Given the description of an element on the screen output the (x, y) to click on. 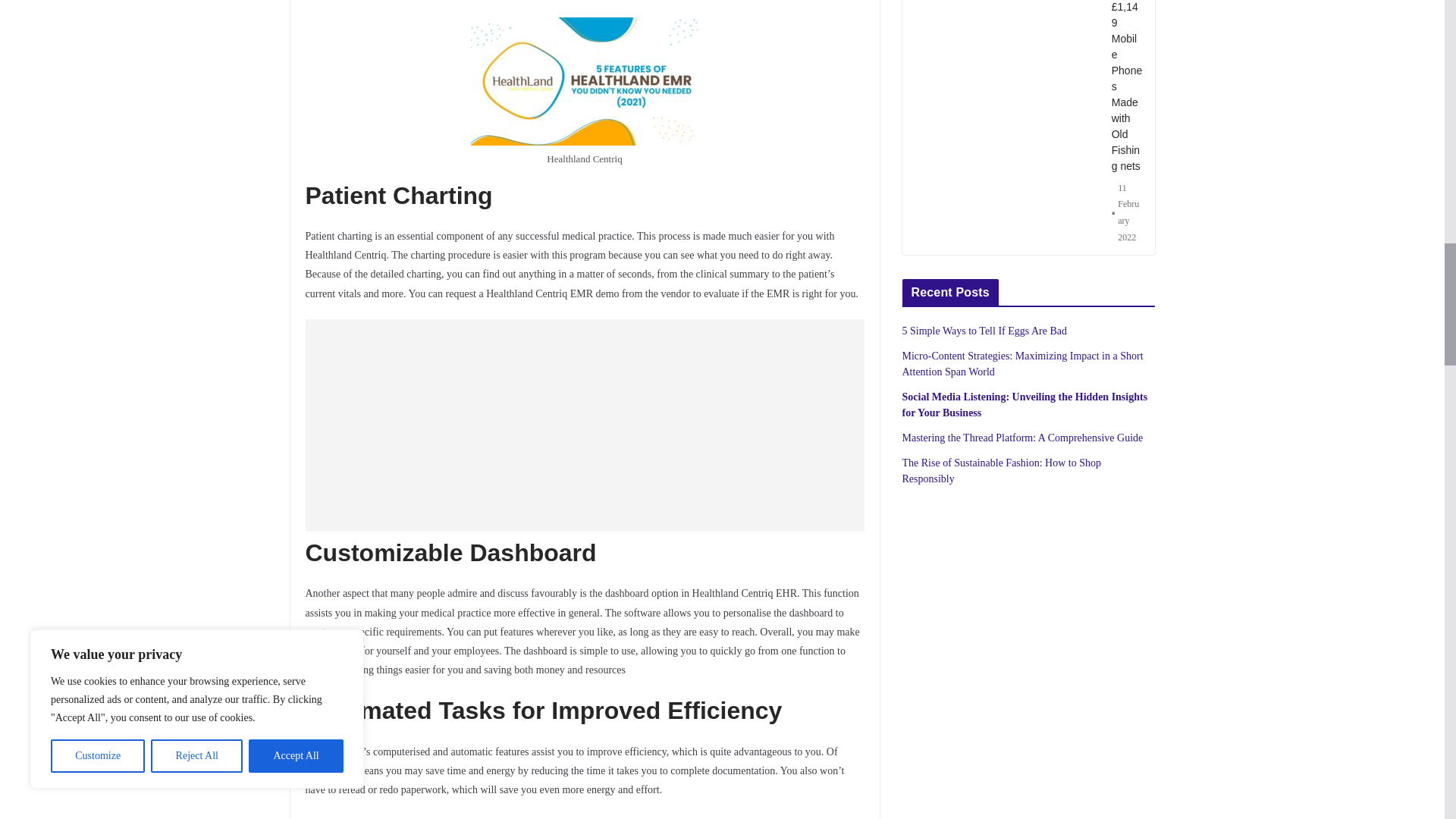
5 Best Features of Healthland Centriq EMR Software In Tech 2 (584, 81)
Advertisement (583, 425)
